Given the description of an element on the screen output the (x, y) to click on. 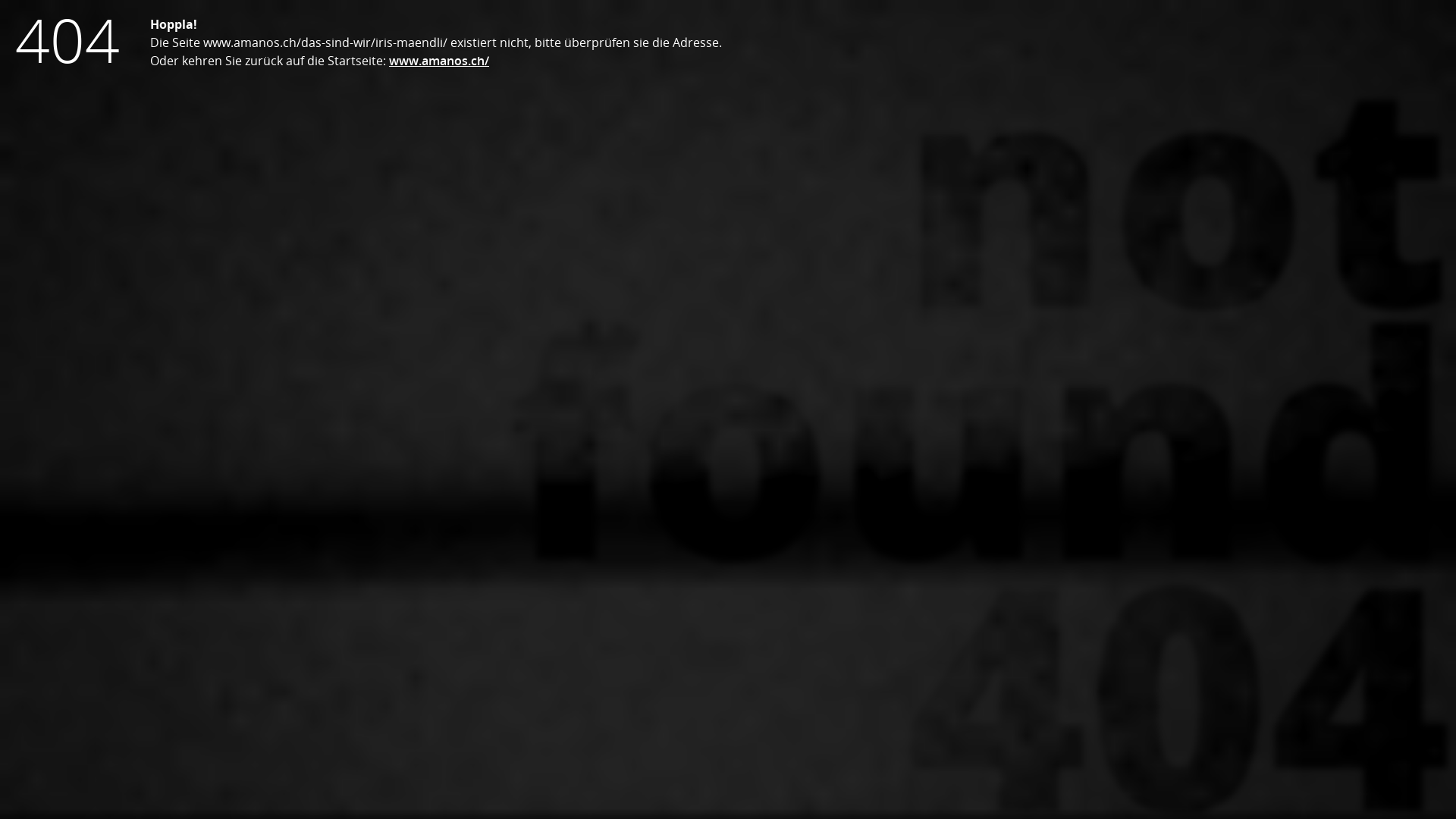
www.amanos.ch/ Element type: text (439, 60)
